Given the description of an element on the screen output the (x, y) to click on. 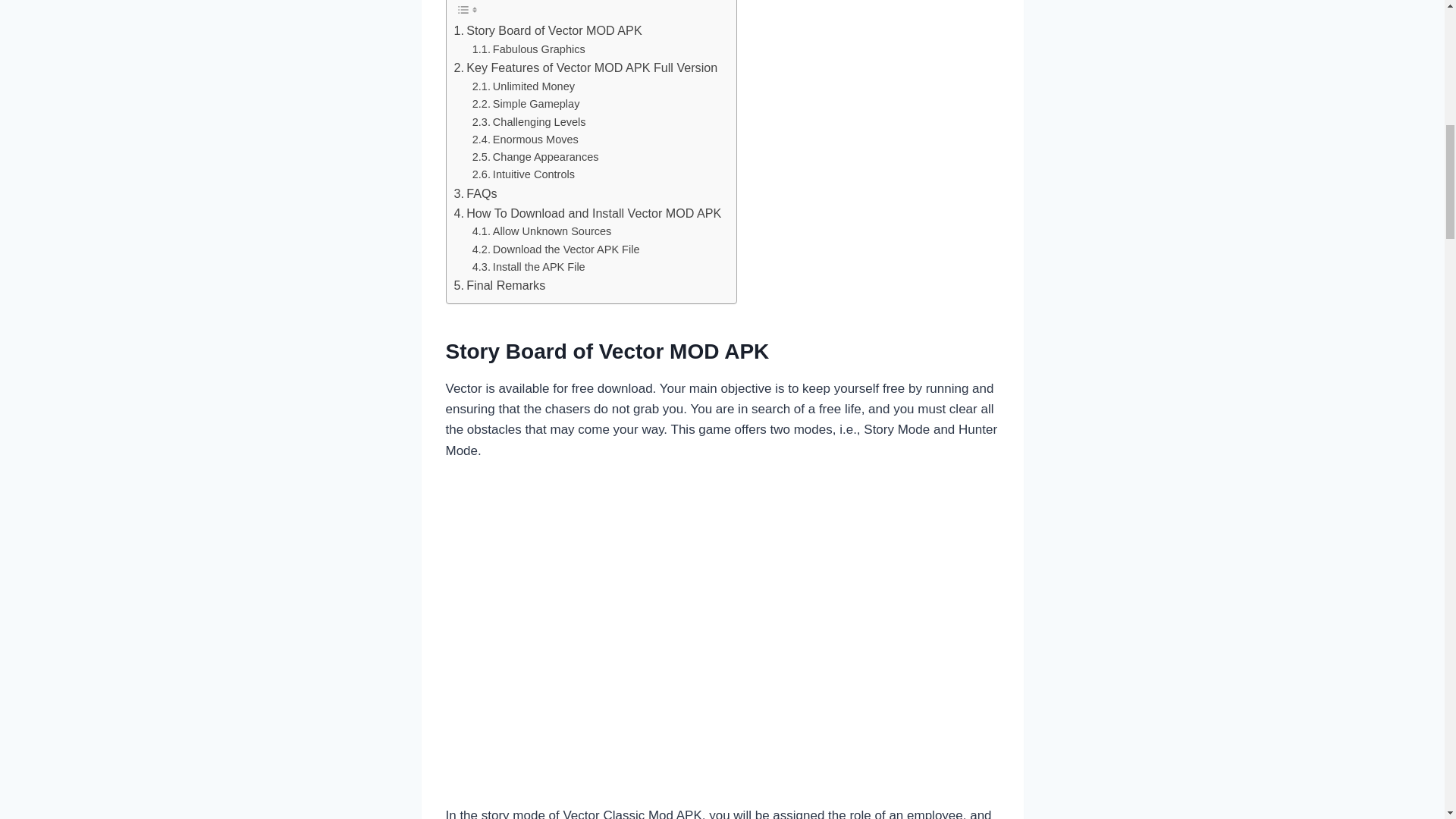
Fabulous Graphics (528, 49)
Story Board of Vector MOD APK (547, 30)
Final Remarks (498, 285)
FAQs (474, 193)
Simple Gameplay (525, 104)
Enormous Moves (524, 139)
Change Appearances (534, 157)
How To Download and Install Vector MOD APK (586, 213)
Simple Gameplay (525, 104)
Story Board of Vector MOD APK (547, 30)
